Given the description of an element on the screen output the (x, y) to click on. 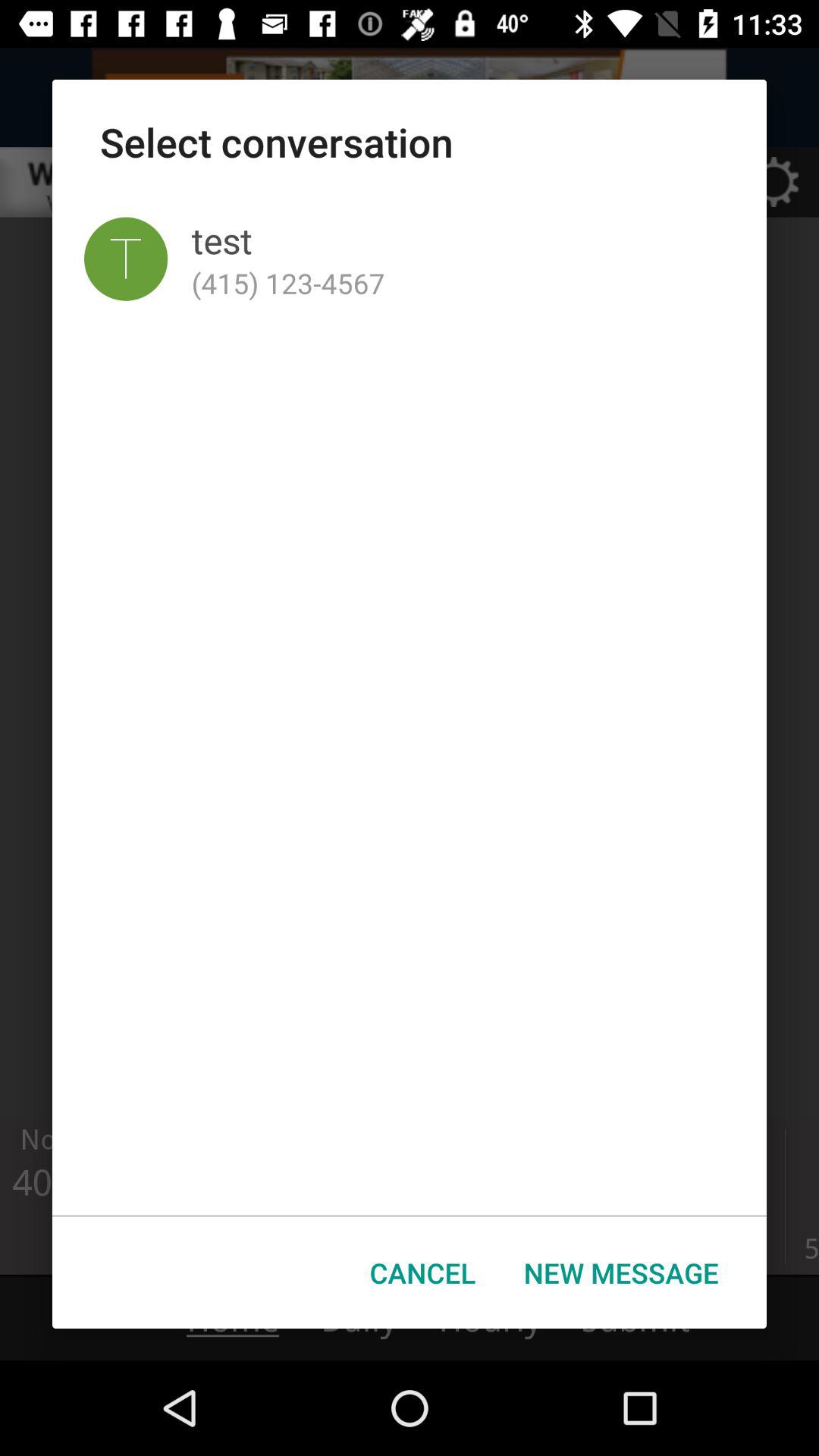
select button at the bottom right corner (620, 1272)
